Given the description of an element on the screen output the (x, y) to click on. 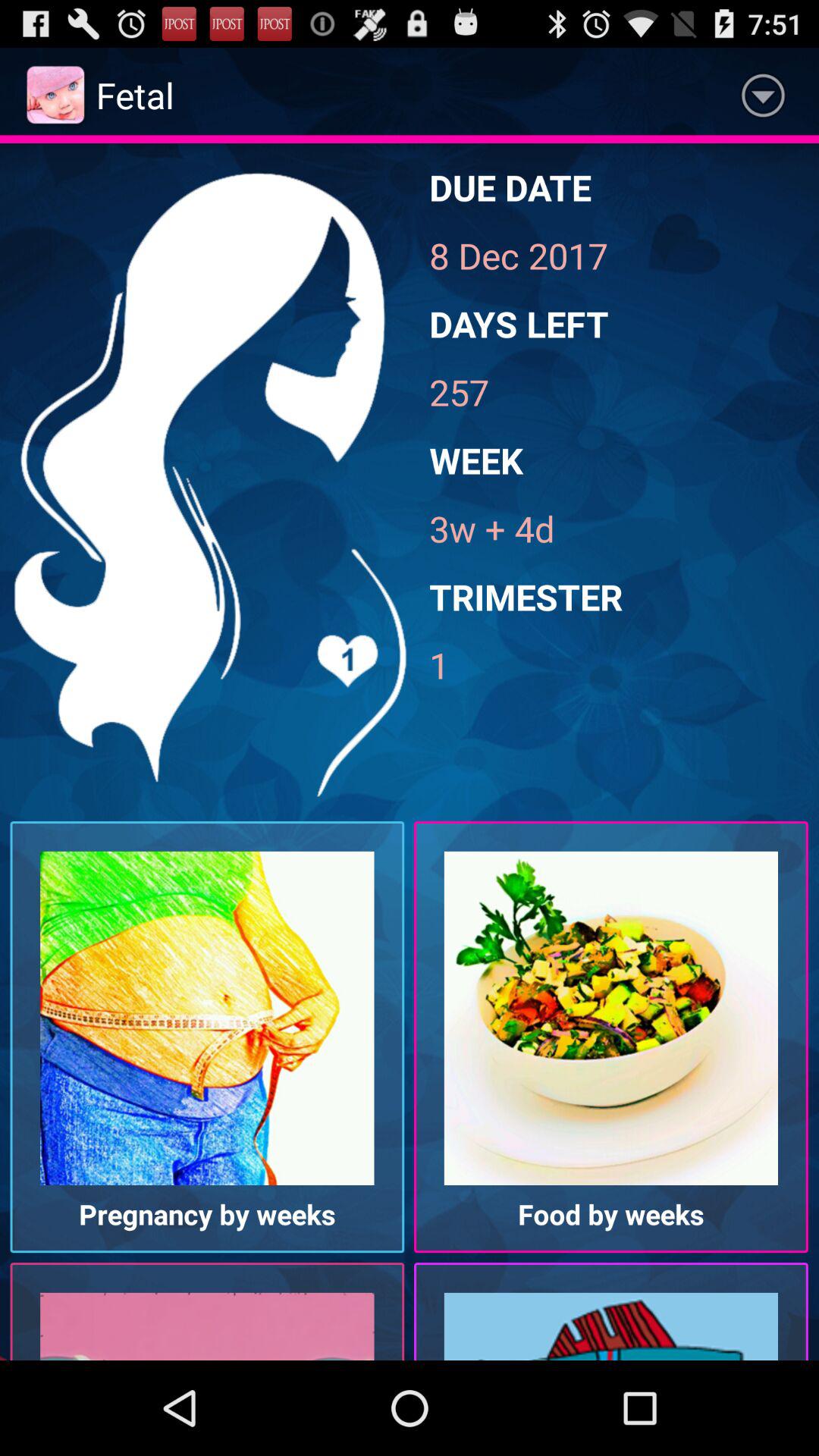
launch the app next to fetal item (763, 95)
